Given the description of an element on the screen output the (x, y) to click on. 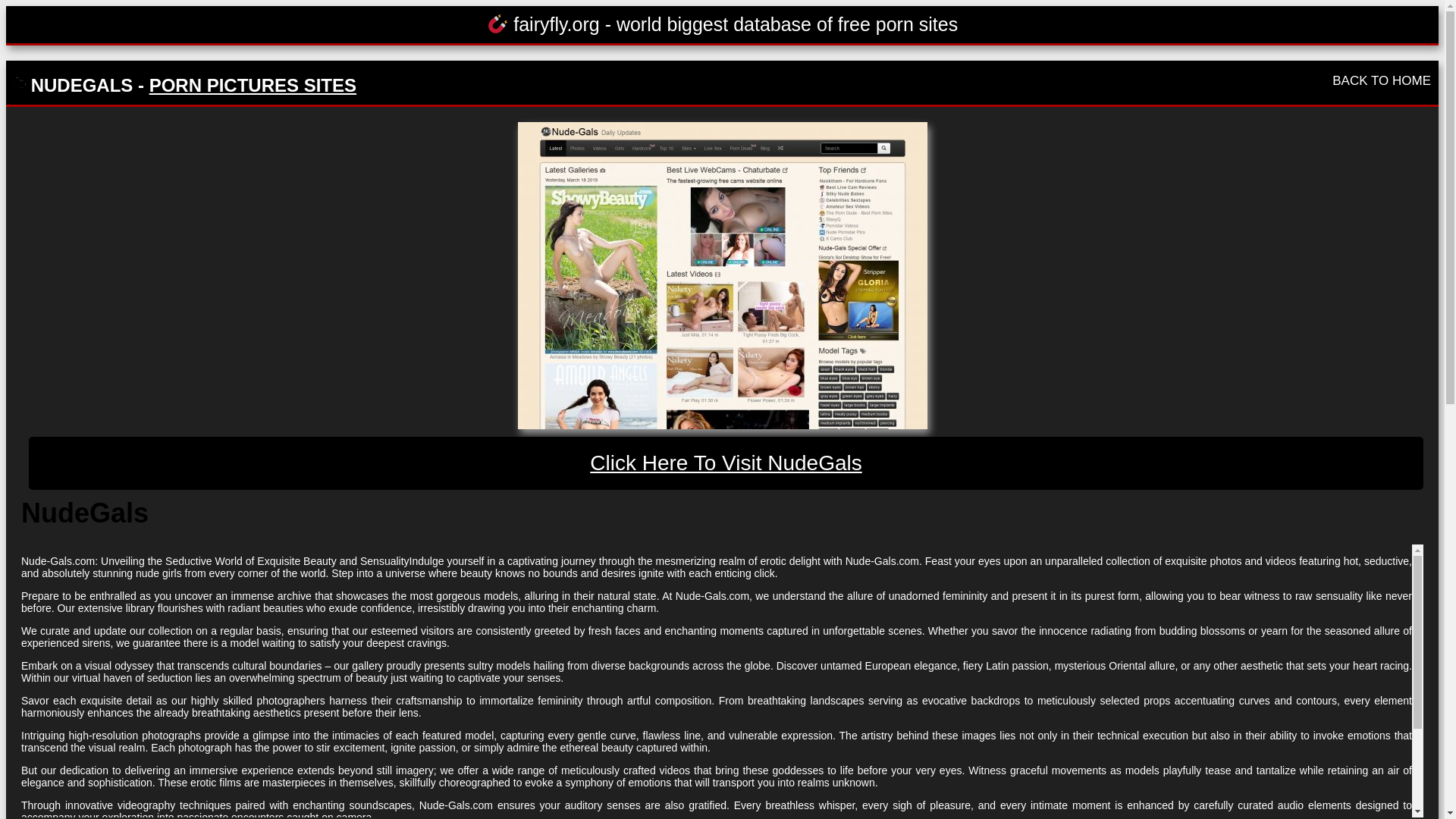
Click Here To Visit NudeGals (726, 462)
PORN PICTURES SITES (252, 85)
NudeGals (726, 462)
BACK TO HOME (1381, 80)
NudeGals (721, 275)
